Given the description of an element on the screen output the (x, y) to click on. 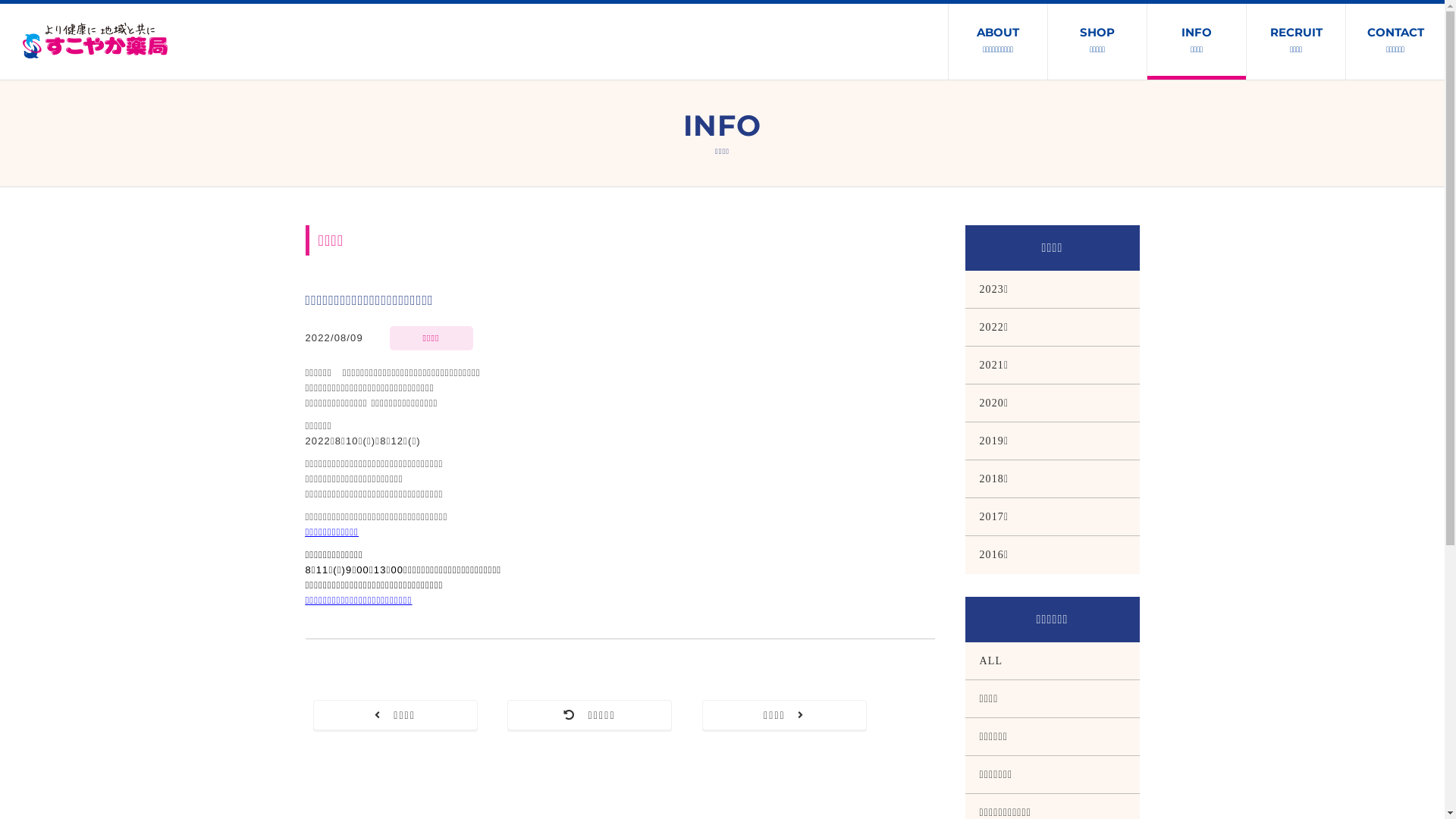
ALL Element type: text (1051, 661)
